Given the description of an element on the screen output the (x, y) to click on. 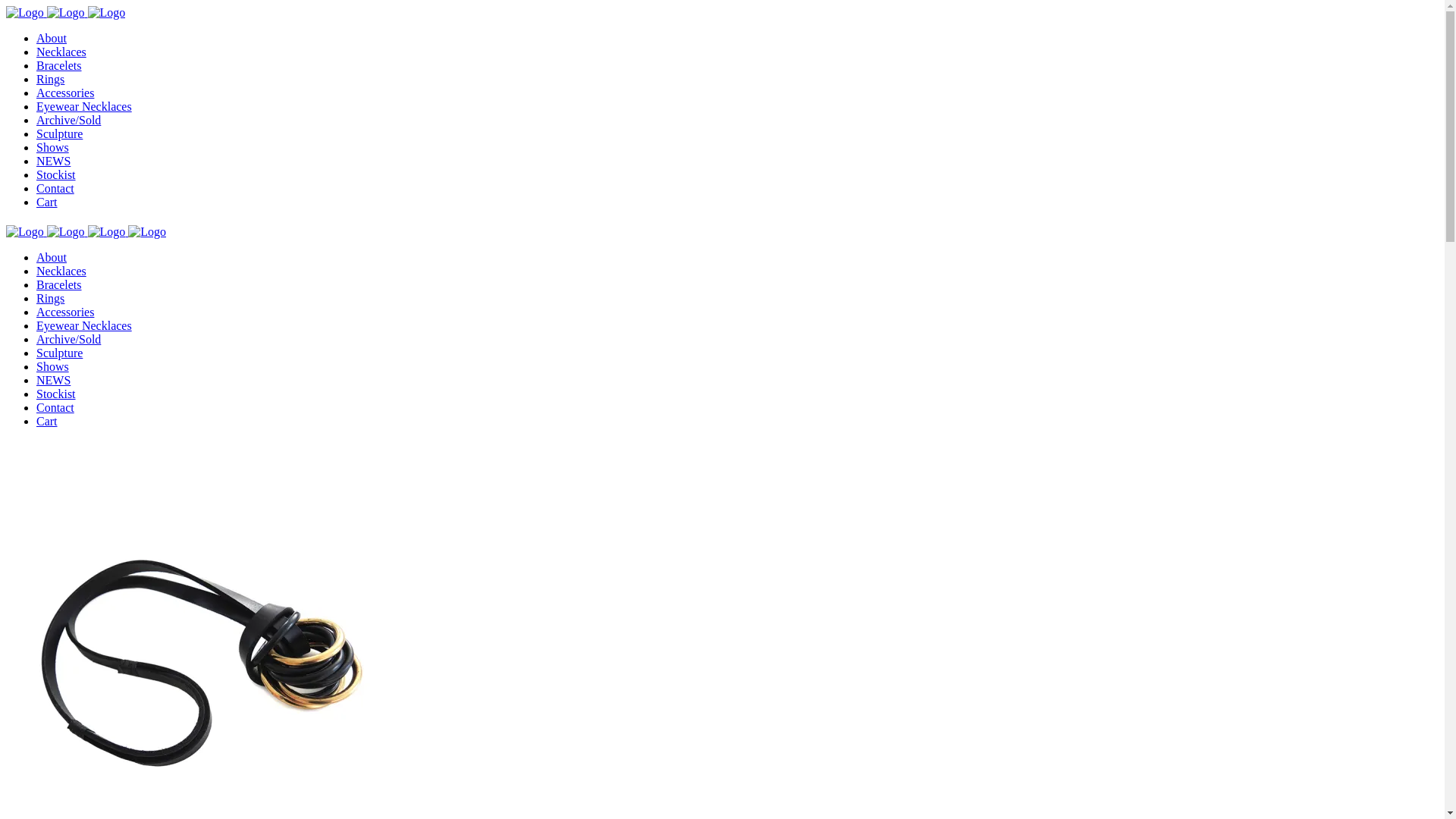
NEWS Element type: text (53, 160)
Archive/Sold Element type: text (68, 338)
Accessories Element type: text (65, 311)
Rings Element type: text (50, 78)
Shows Element type: text (52, 147)
Stockist Element type: text (55, 174)
Stockist Element type: text (55, 393)
Accessories Element type: text (65, 92)
Rings Element type: text (50, 297)
Contact Element type: text (55, 188)
Cart Element type: text (46, 201)
About Element type: text (51, 37)
Cart Element type: text (46, 420)
Bracelets Element type: text (58, 65)
Eyewear Necklaces Element type: text (83, 325)
Sculpture Element type: text (59, 133)
Bracelets Element type: text (58, 284)
Necklaces Element type: text (61, 51)
NEWS Element type: text (53, 379)
Archive/Sold Element type: text (68, 119)
Necklaces Element type: text (61, 270)
About Element type: text (51, 257)
Sculpture Element type: text (59, 352)
Contact Element type: text (55, 407)
Eyewear Necklaces Element type: text (83, 106)
Shows Element type: text (52, 366)
